Given the description of an element on the screen output the (x, y) to click on. 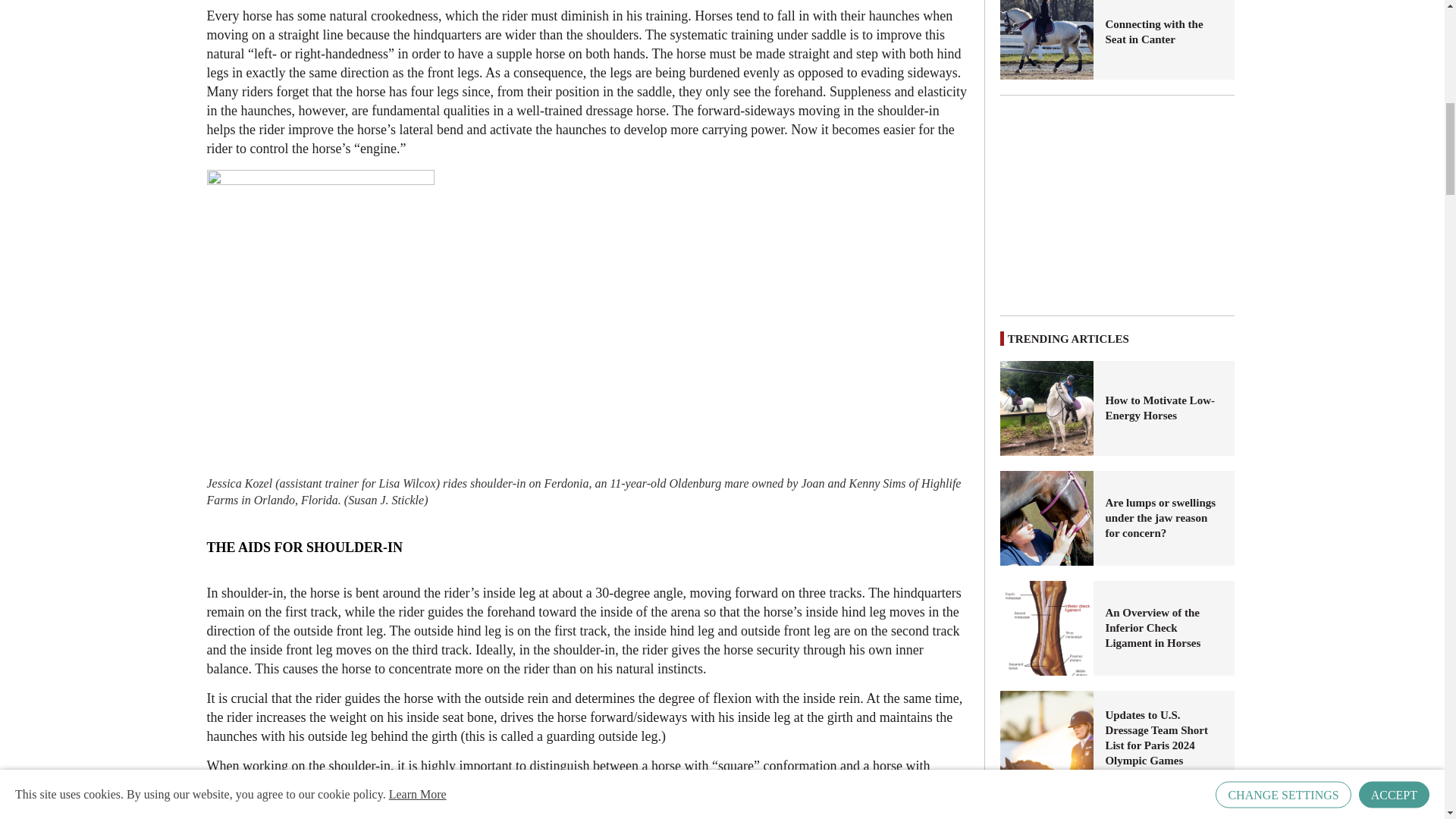
Connecting with the Seat in Canter (1047, 39)
3rd party ad content (1117, 205)
Connecting with the Seat in Canter (1164, 31)
How to Motivate Low-Energy Horses (1047, 408)
